Given the description of an element on the screen output the (x, y) to click on. 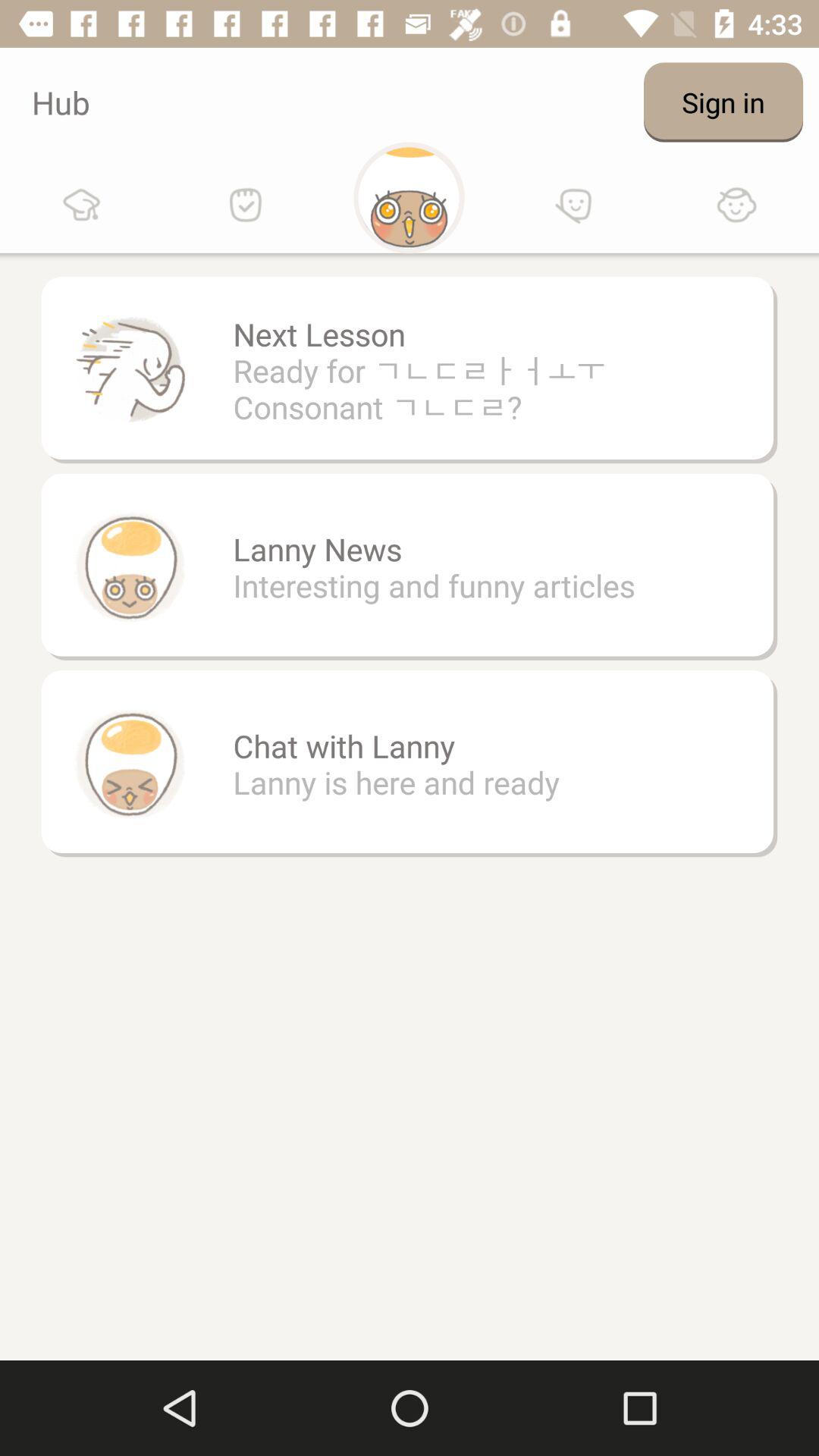
click on sign in (723, 102)
select the first icon which is below hub on page (81, 205)
click on the icon which is left to the text chat with lanny (129, 763)
